Given the description of an element on the screen output the (x, y) to click on. 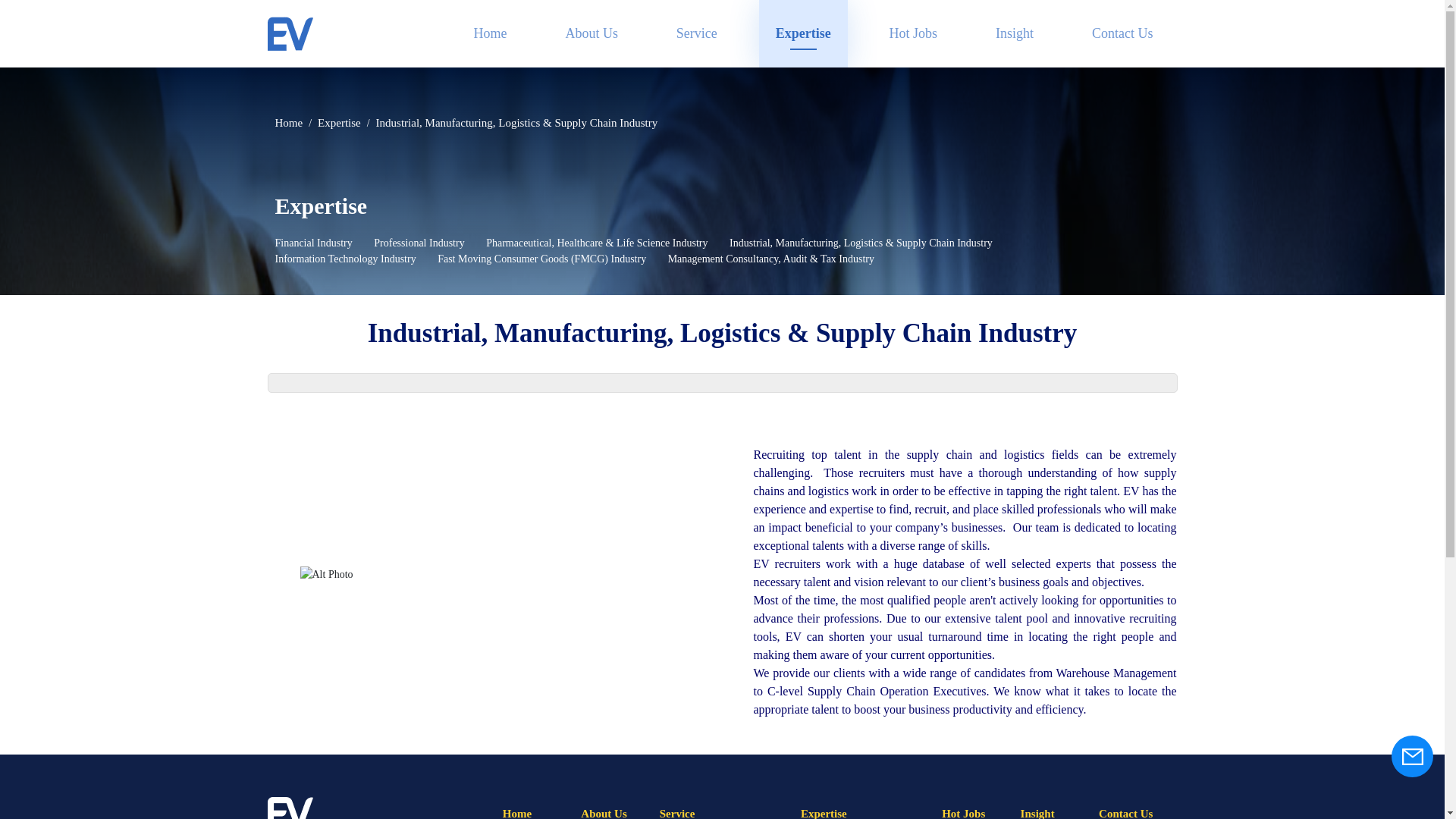
Financial Industry (313, 242)
Expertise (339, 122)
Hot Jobs (913, 33)
Hot Jobs (913, 33)
Home (489, 33)
Expertise (802, 33)
Home (489, 33)
About Us (603, 812)
Insight (1013, 33)
About Us (591, 33)
Service (696, 33)
Home (516, 812)
Service (696, 33)
Expertise (802, 33)
About us (591, 33)
